Given the description of an element on the screen output the (x, y) to click on. 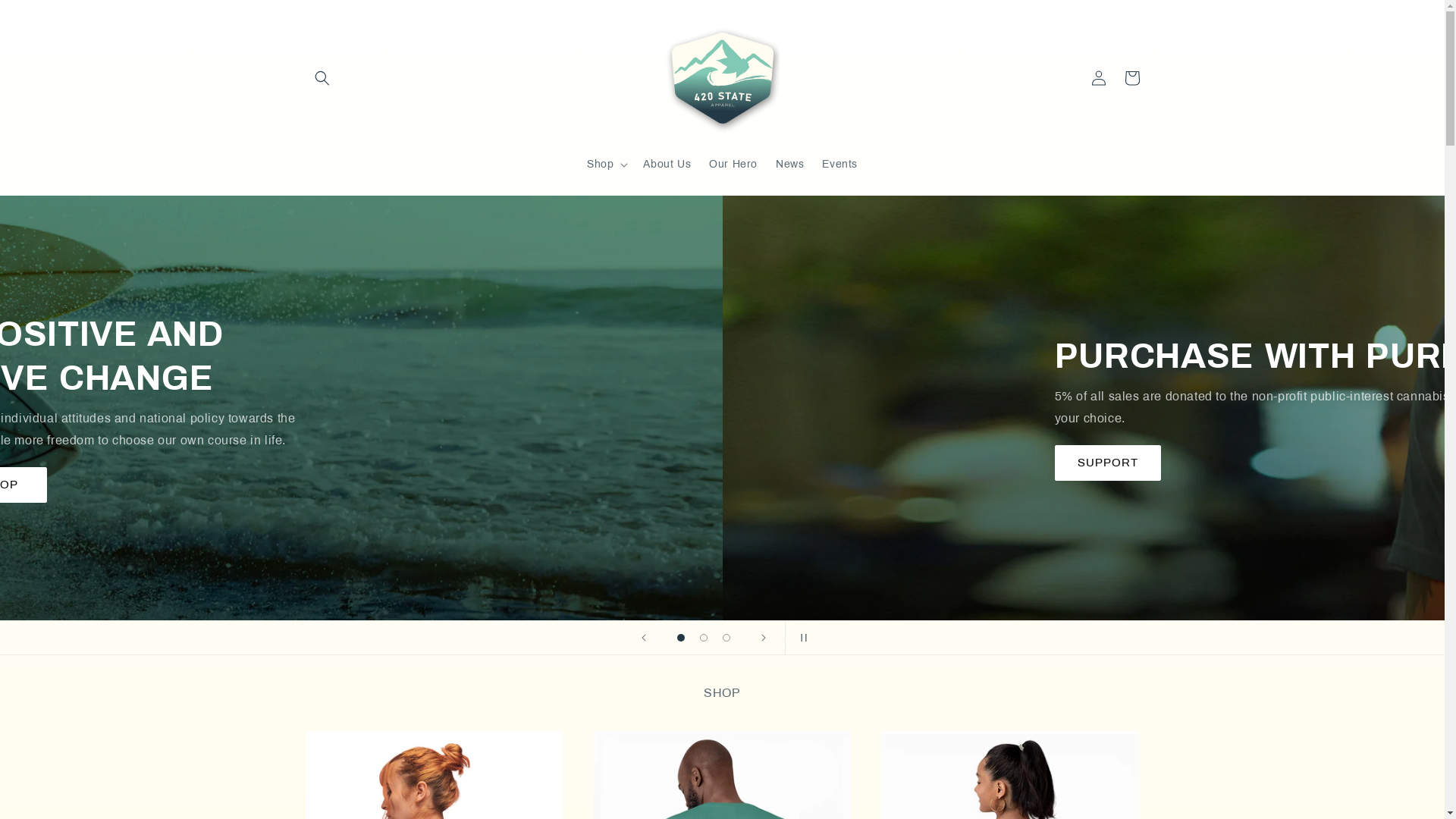
News Element type: text (789, 164)
Log in Element type: text (1097, 77)
Our Hero Element type: text (732, 164)
Cart Element type: text (1131, 77)
Events Element type: text (839, 164)
SHOP Element type: text (722, 484)
About Us Element type: text (666, 164)
